Given the description of an element on the screen output the (x, y) to click on. 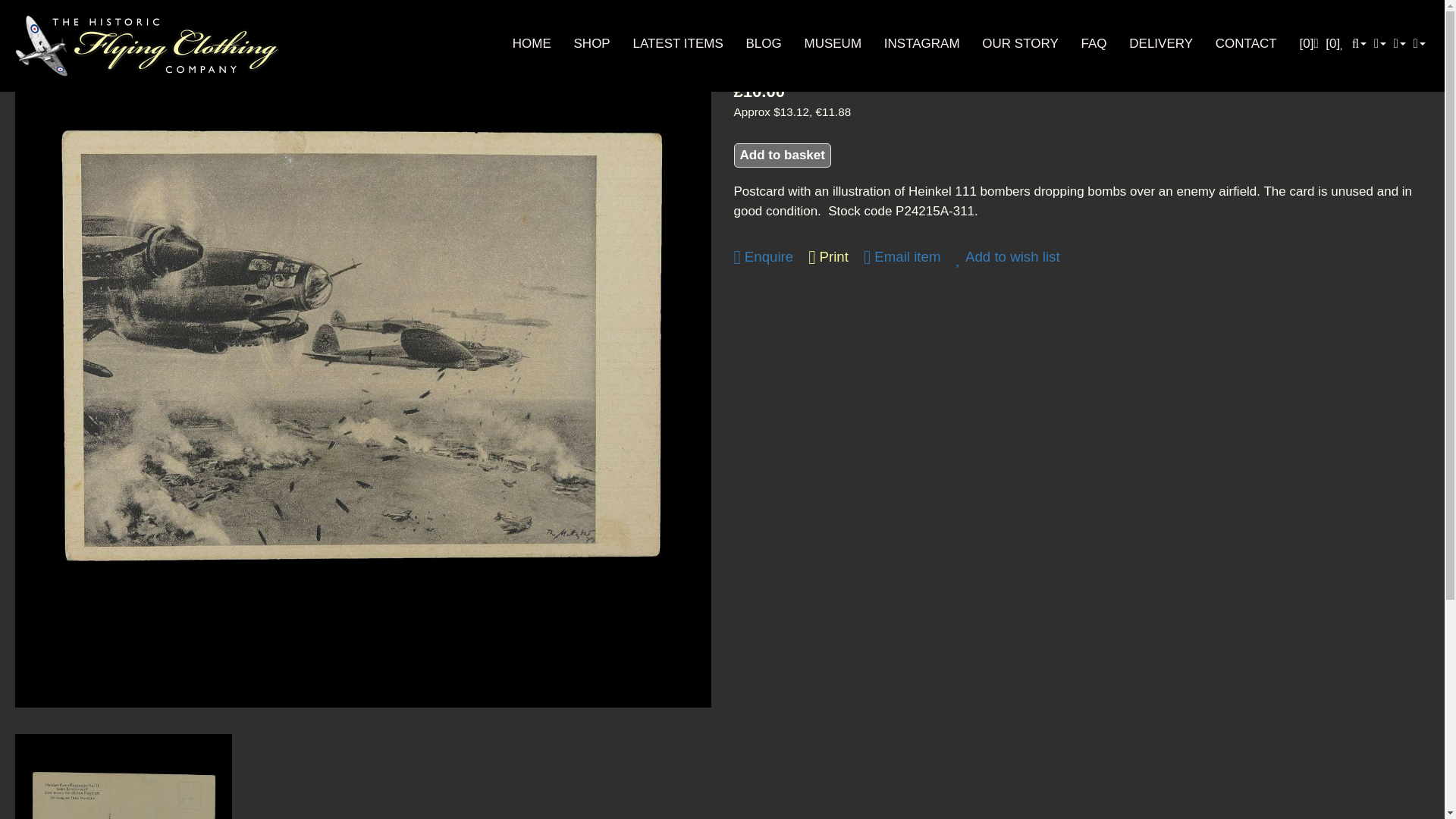
CONTACT (1245, 43)
HOME (531, 43)
Enquire (763, 257)
DELIVERY (1160, 43)
OUR STORY (1019, 43)
Add to wish list (1007, 257)
Add to basket (782, 155)
SHOP (591, 43)
BLOG (763, 43)
MUSEUM (832, 43)
